Given the description of an element on the screen output the (x, y) to click on. 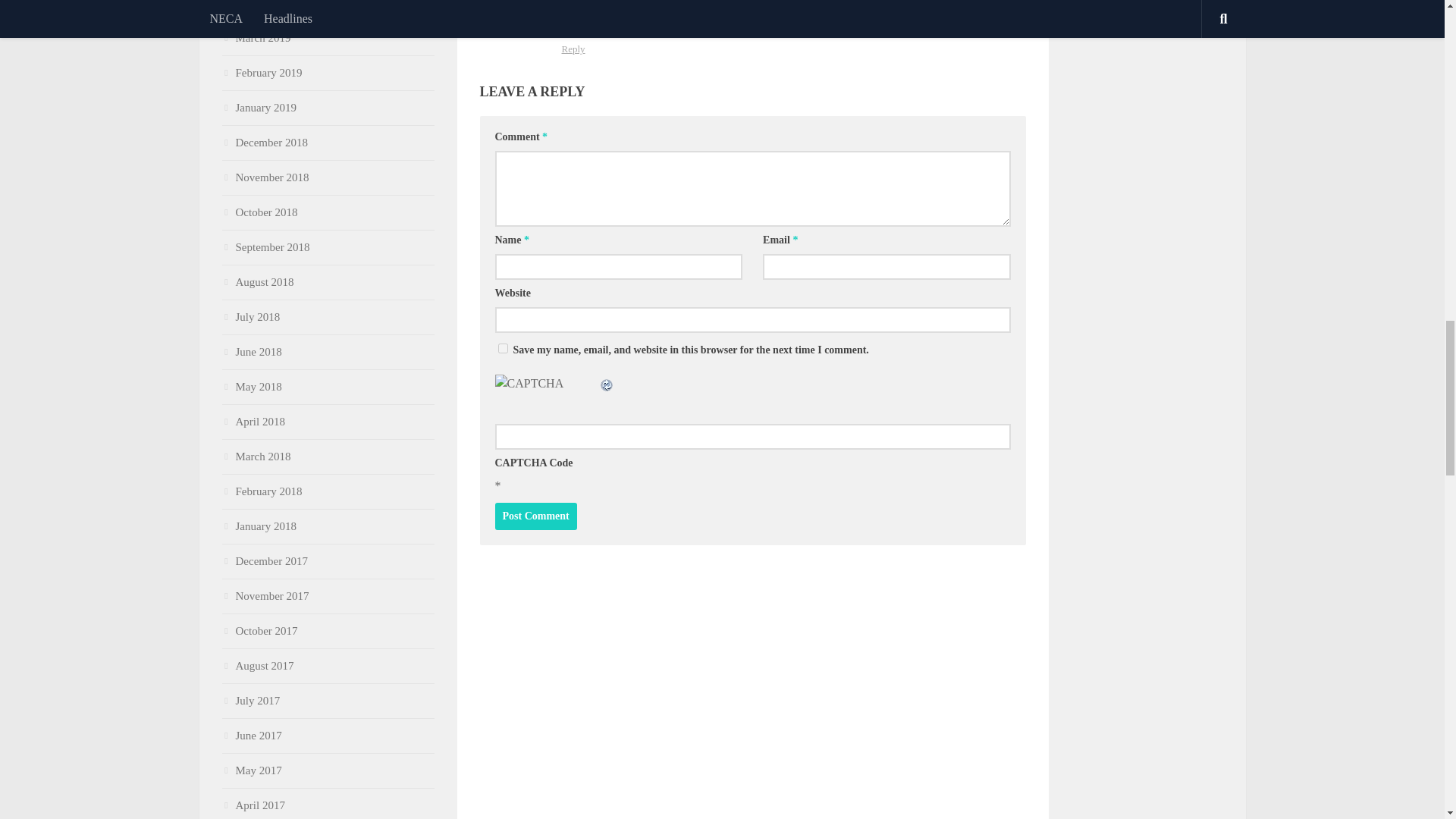
yes (501, 347)
Post Comment (535, 515)
Refresh (606, 382)
CAPTCHA (546, 391)
